Given the description of an element on the screen output the (x, y) to click on. 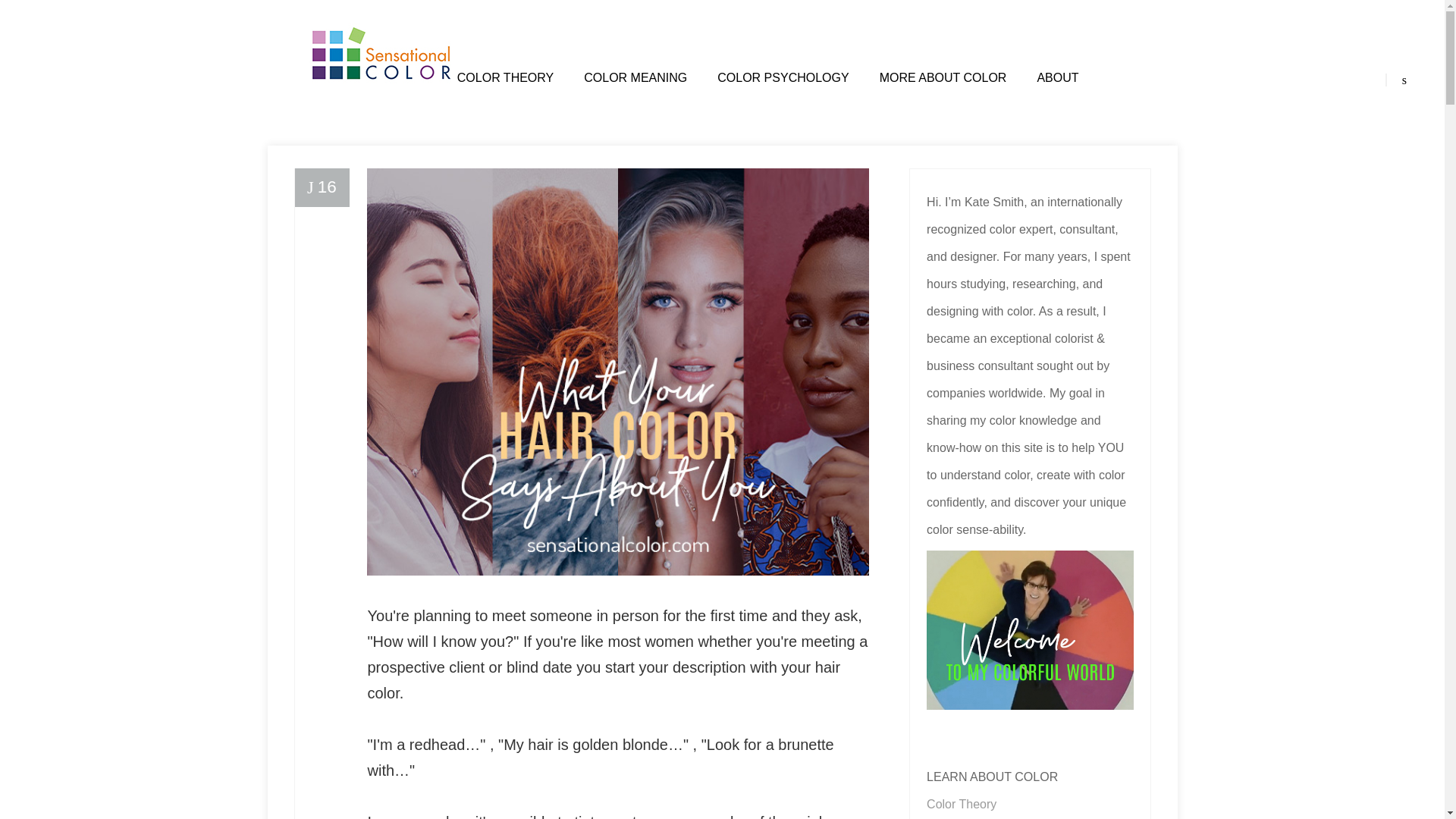
MORE ABOUT COLOR (943, 78)
COLOR MEANING (635, 78)
COLOR THEORY (505, 78)
ABOUT (1057, 78)
COLOR PSYCHOLOGY (782, 78)
16 (321, 187)
